Given the description of an element on the screen output the (x, y) to click on. 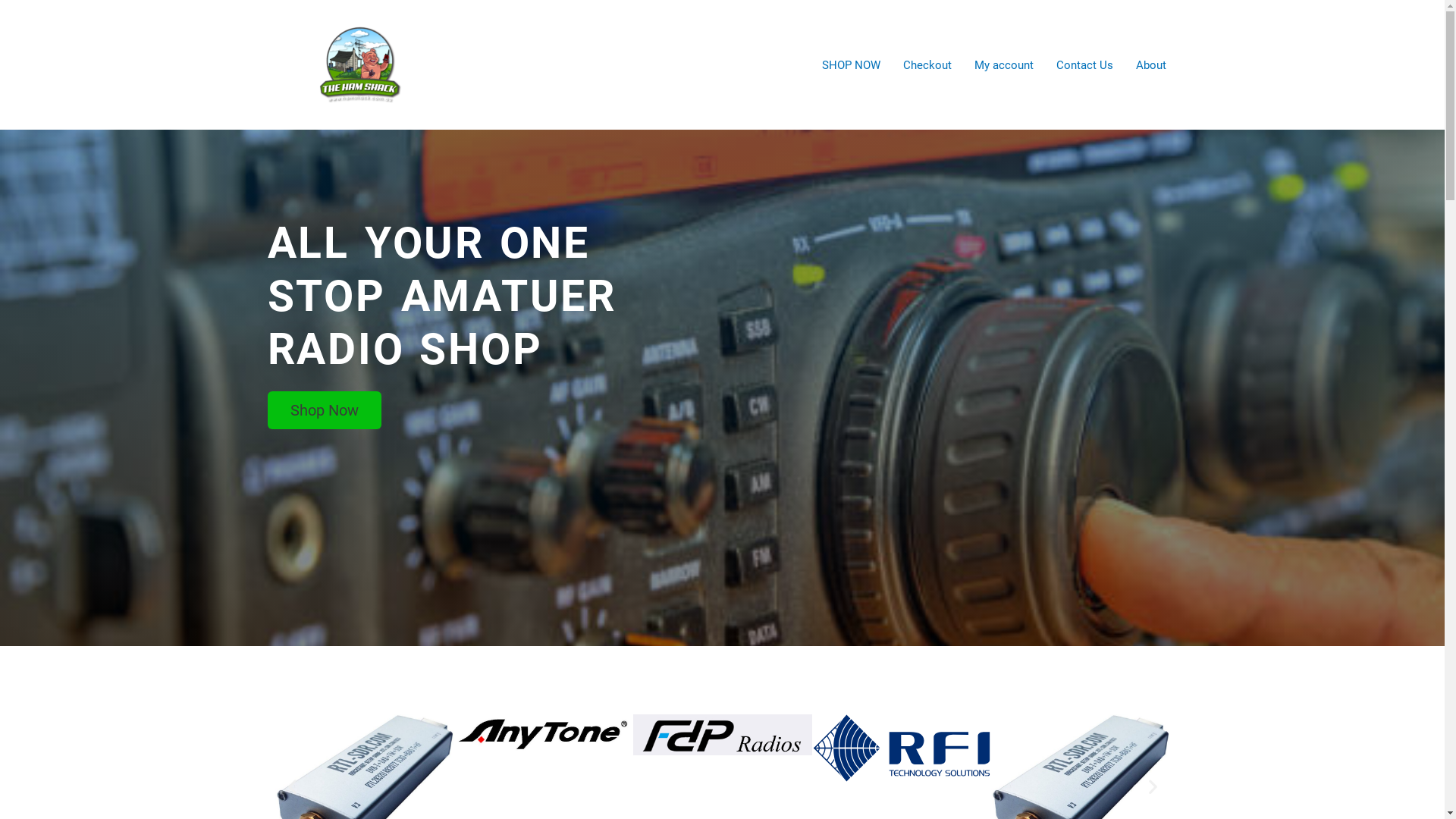
Contact Us Element type: text (1084, 64)
SHOP NOW Element type: text (850, 64)
Shop Now Element type: text (323, 410)
Checkout Element type: text (927, 64)
About Element type: text (1149, 64)
My account Element type: text (1003, 64)
